Given the description of an element on the screen output the (x, y) to click on. 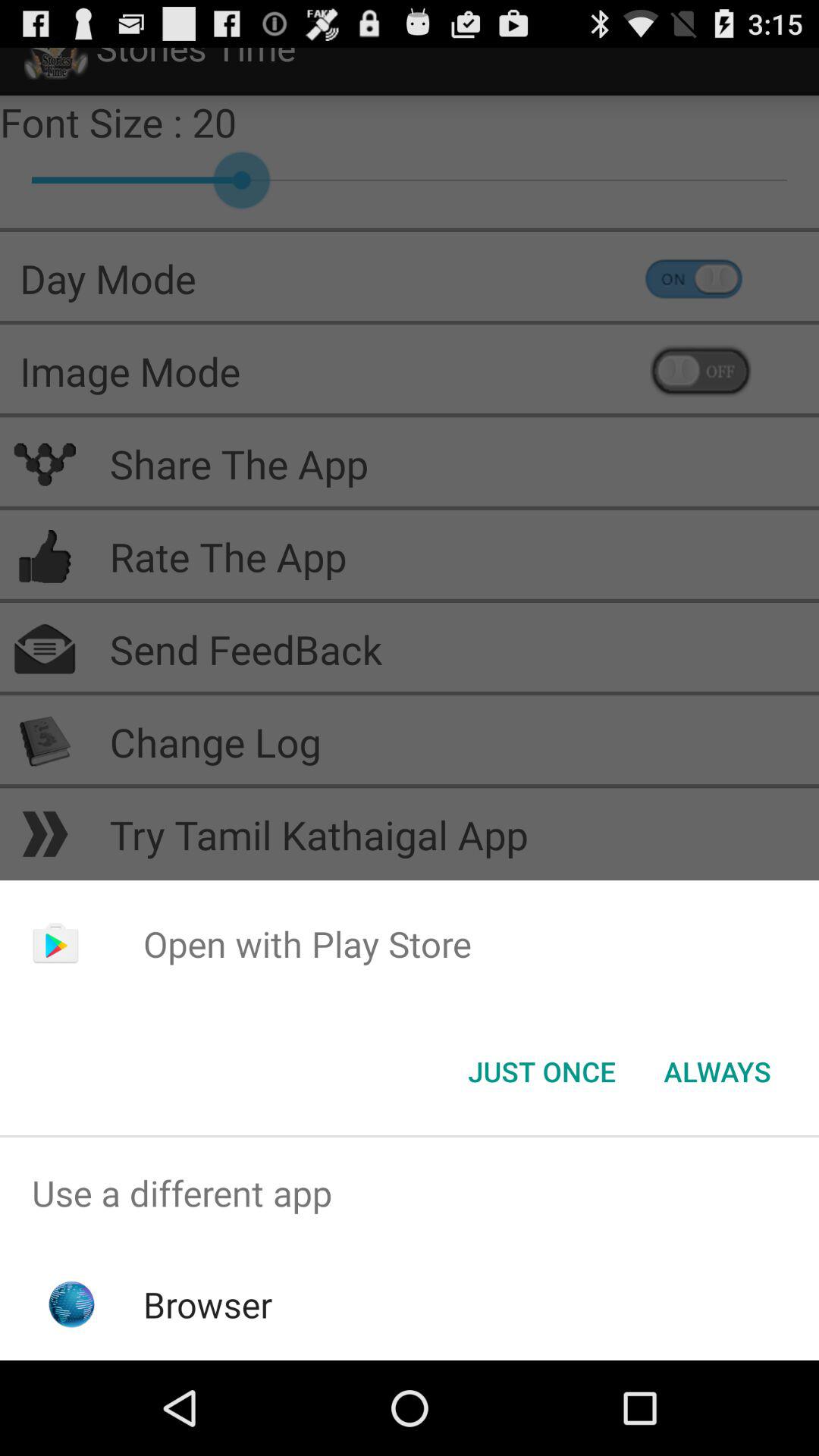
tap the item below use a different (207, 1304)
